Given the description of an element on the screen output the (x, y) to click on. 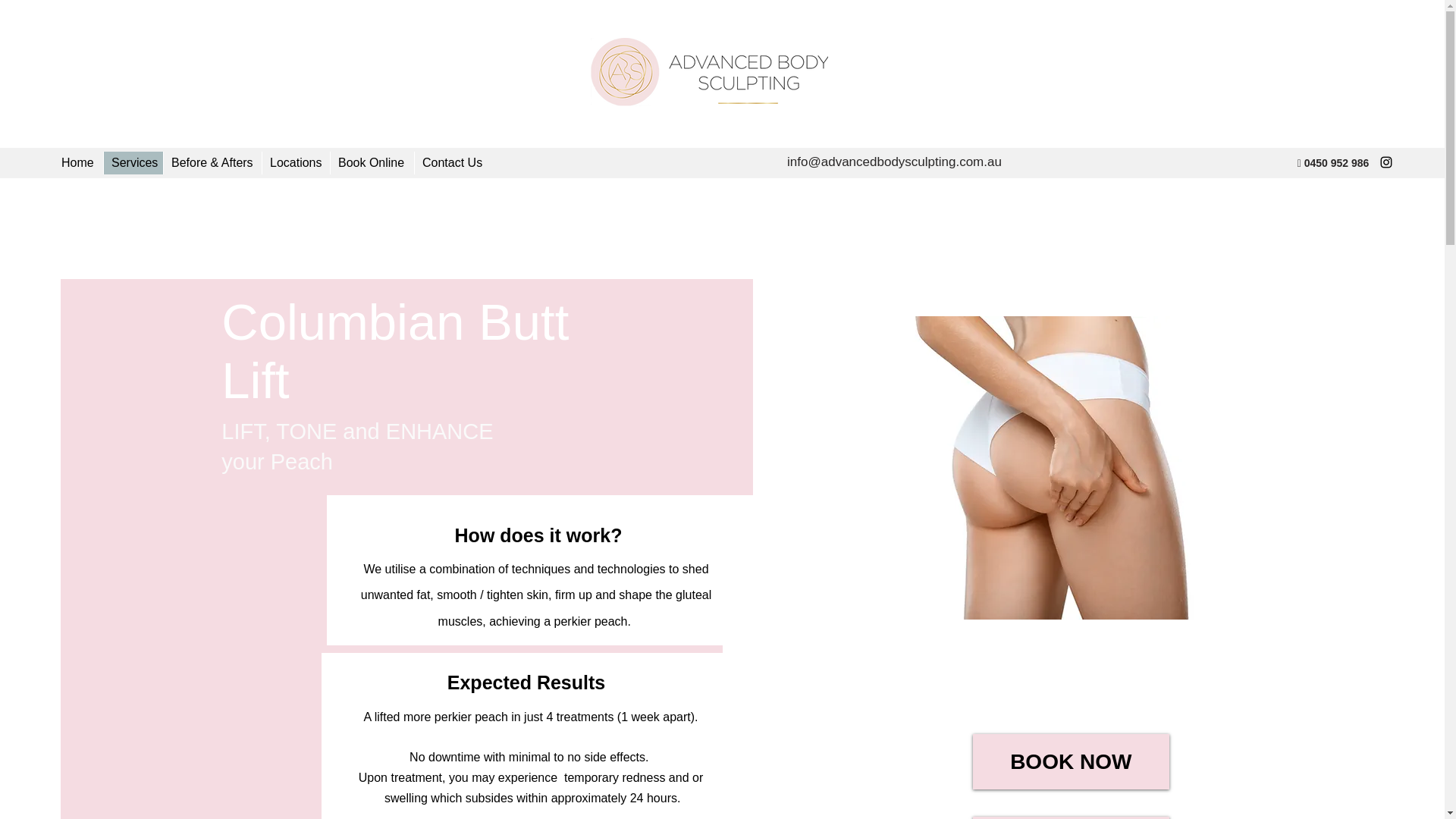
Services (133, 162)
Home (78, 162)
Contact Us (451, 162)
BOOK NOW (1070, 761)
Book Online (371, 162)
Locations (296, 162)
